Given the description of an element on the screen output the (x, y) to click on. 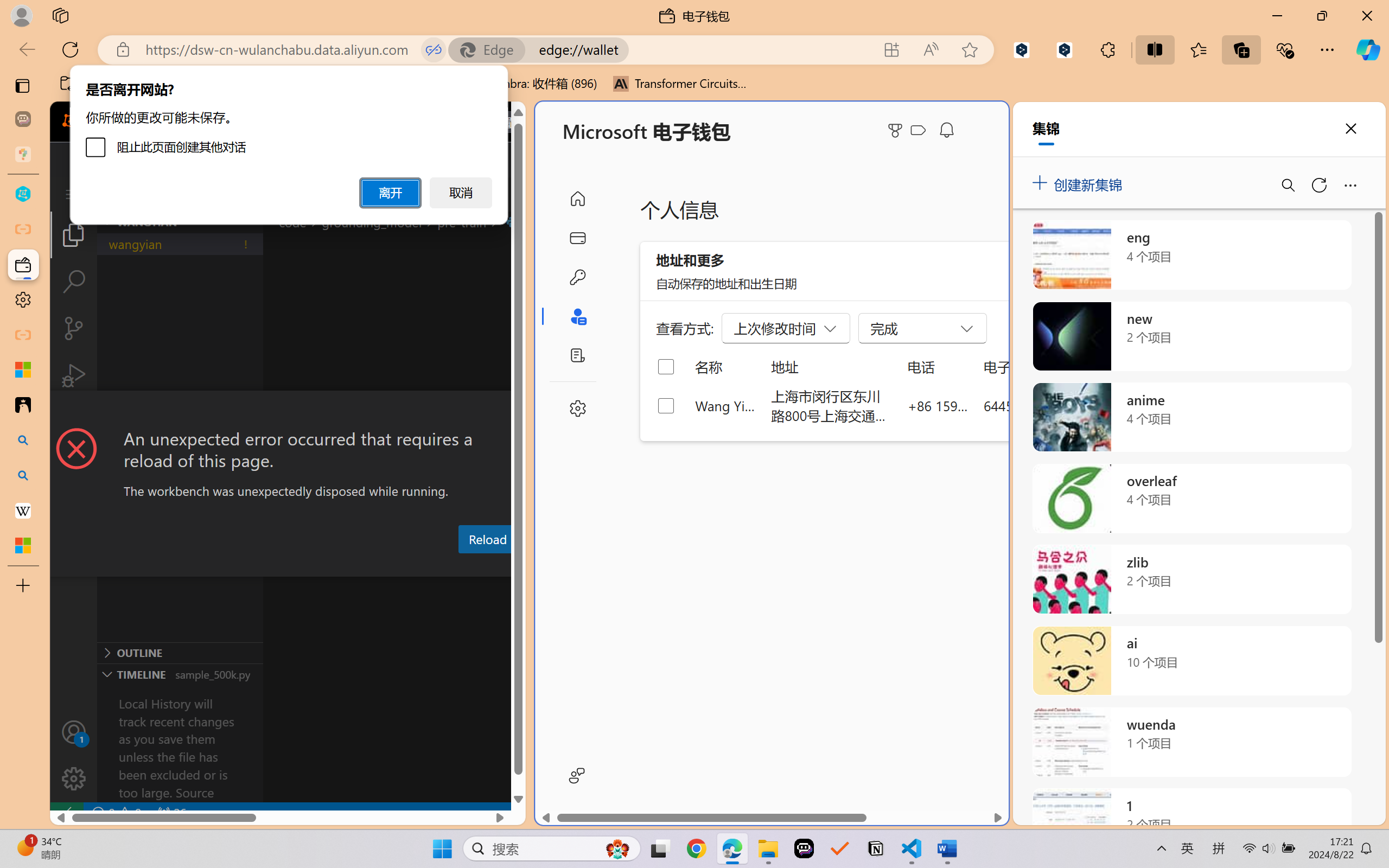
Manage (73, 755)
Outline Section (179, 652)
+86 159 0032 4640 (938, 405)
Extensions (Ctrl+Shift+X) (73, 422)
Adjust indents and spacing - Microsoft Support (22, 369)
Run and Debug (Ctrl+Shift+D) (73, 375)
